Given the description of an element on the screen output the (x, y) to click on. 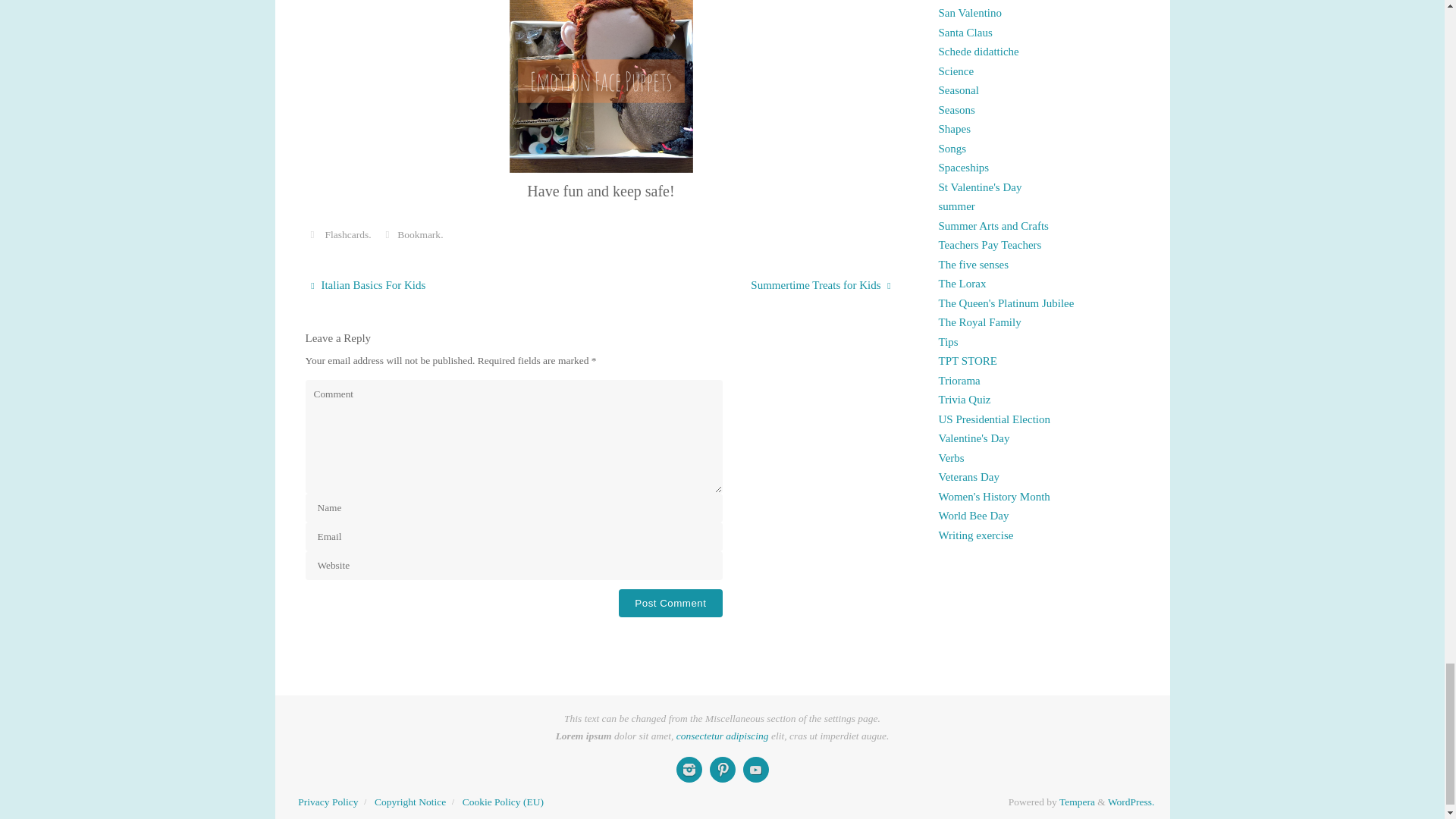
Permalink to Teaching Emotions to Kids (419, 234)
Tagged (311, 234)
Post Comment (670, 602)
 Bookmark the permalink (387, 234)
